Given the description of an element on the screen output the (x, y) to click on. 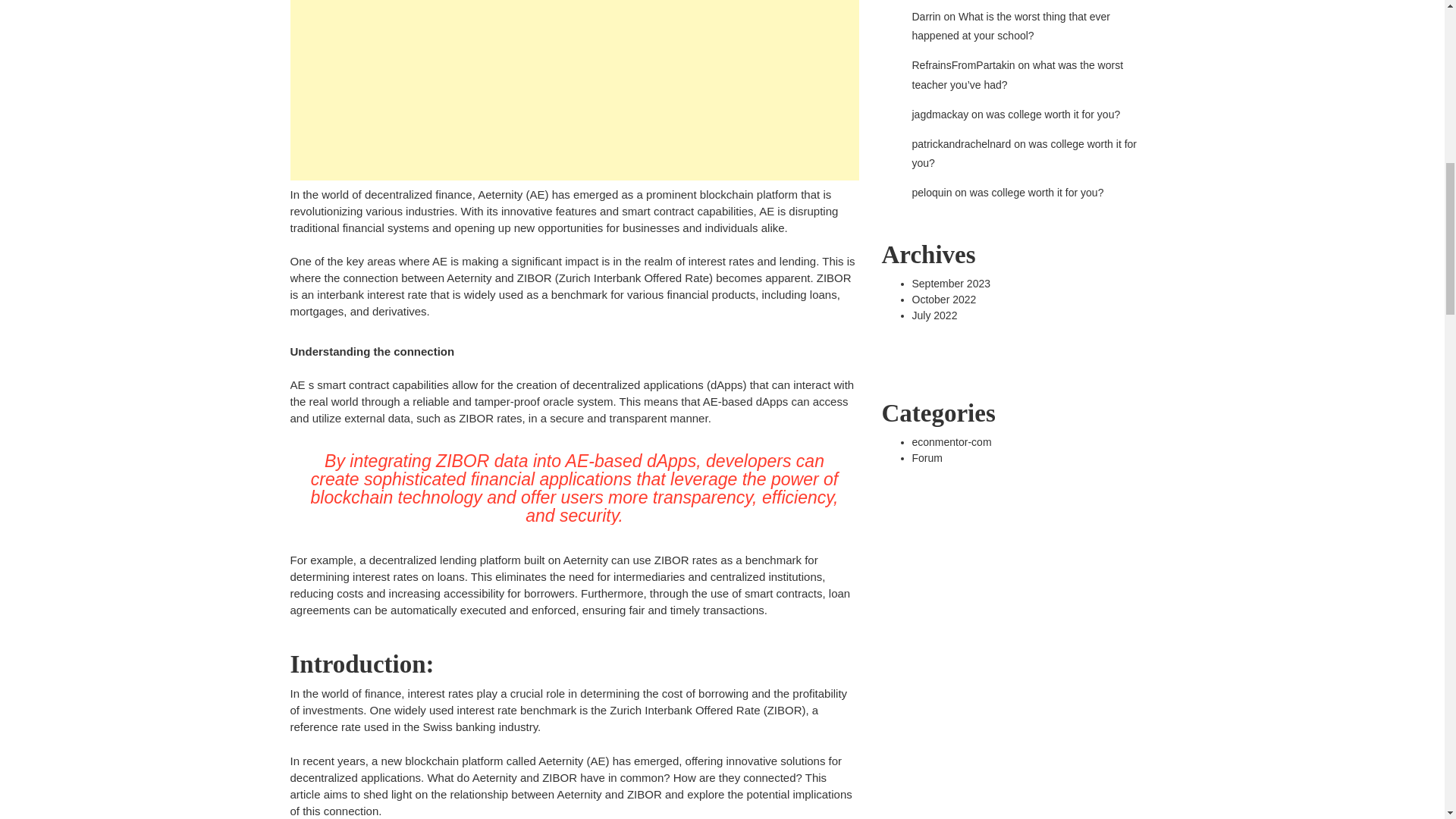
was college worth it for you? (1054, 114)
September 2023 (950, 283)
What is the worst thing that ever happened at your school? (1010, 25)
was college worth it for you? (1024, 153)
econmentor-com (951, 440)
Advertisement (574, 90)
July 2022 (933, 315)
peloquin (931, 192)
October 2022 (943, 298)
was college worth it for you? (1036, 192)
